Given the description of an element on the screen output the (x, y) to click on. 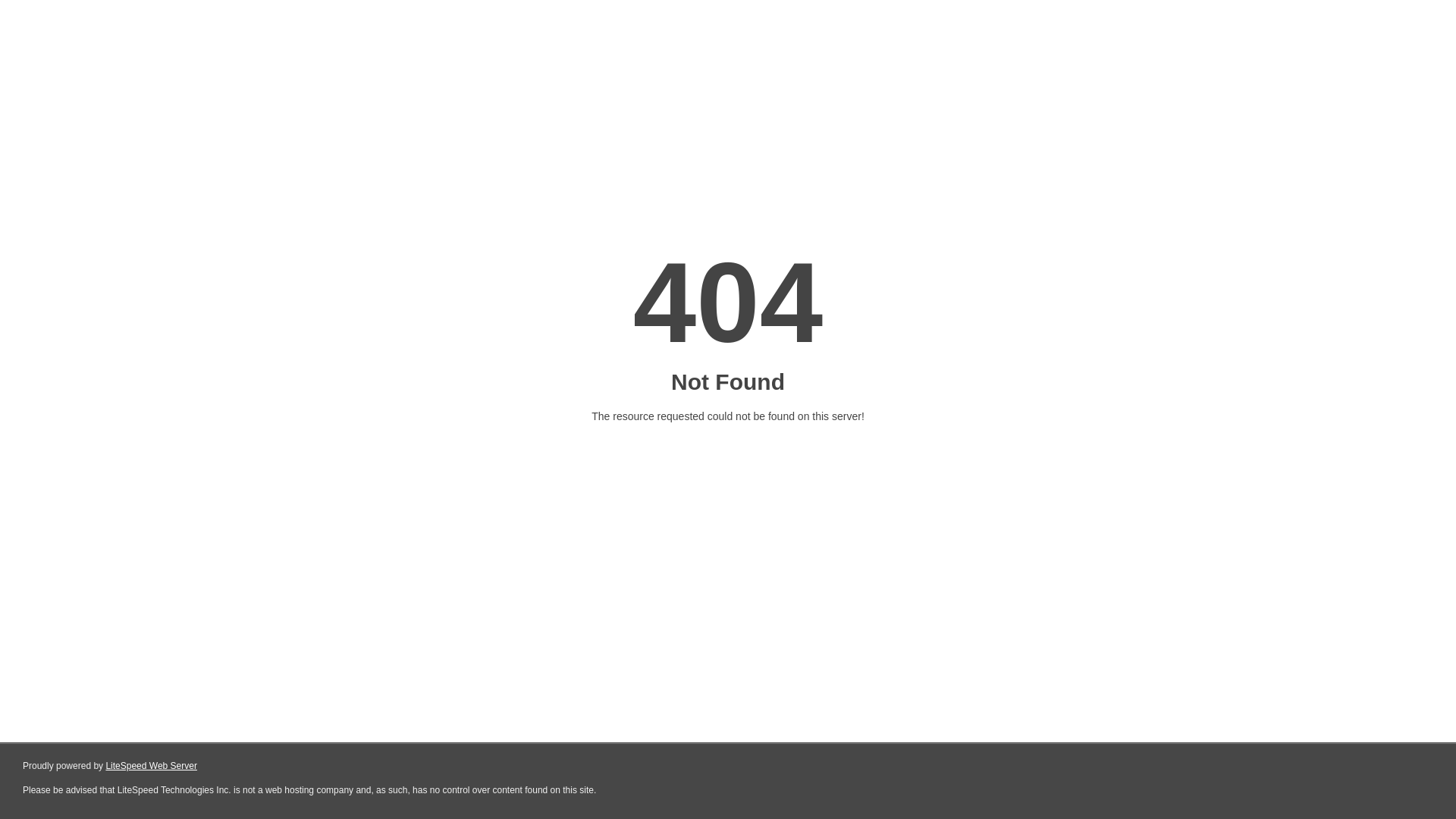
LiteSpeed Web Server Element type: text (151, 765)
